Given the description of an element on the screen output the (x, y) to click on. 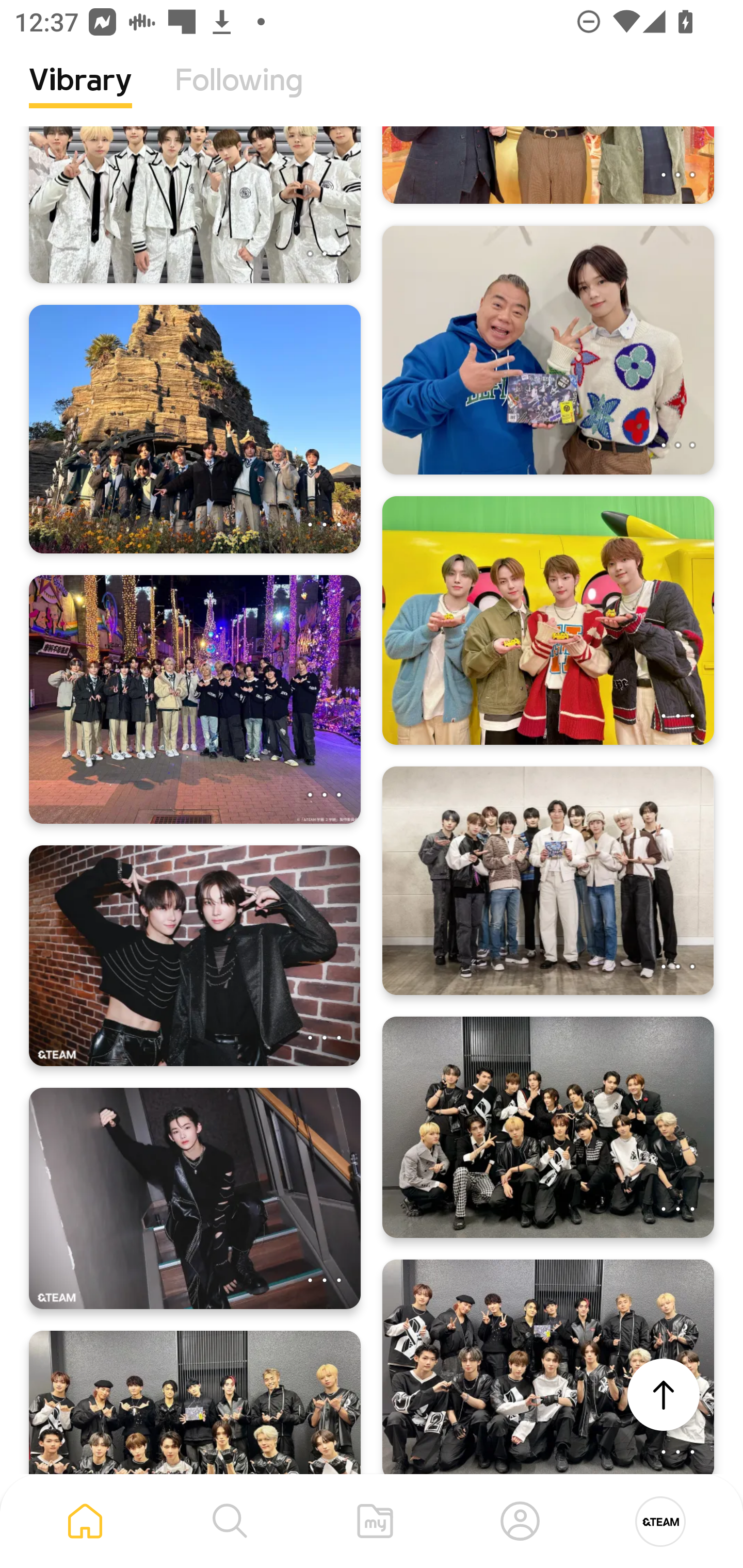
Vibrary (80, 95)
Following (239, 95)
